Given the description of an element on the screen output the (x, y) to click on. 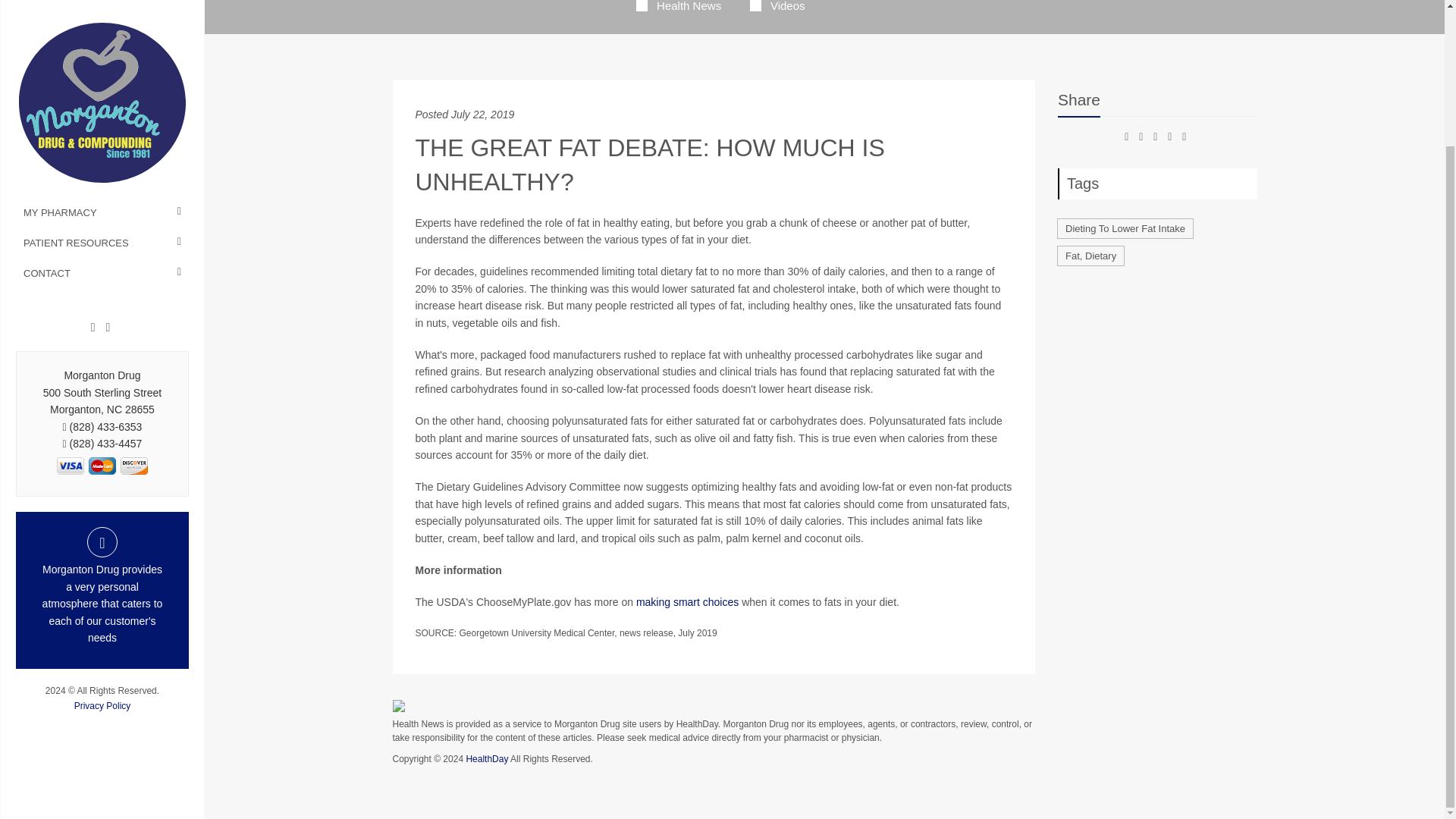
Privacy Policy (102, 538)
1 (101, 299)
HealthDay (486, 758)
making smart choices (687, 602)
Dieting To Lower Fat Intake (1125, 228)
2 (133, 299)
MY PHARMACY (102, 46)
CONTACT (102, 106)
PATIENT RESOURCES (102, 76)
0 (70, 299)
Fat, Dietary (1090, 255)
